Given the description of an element on the screen output the (x, y) to click on. 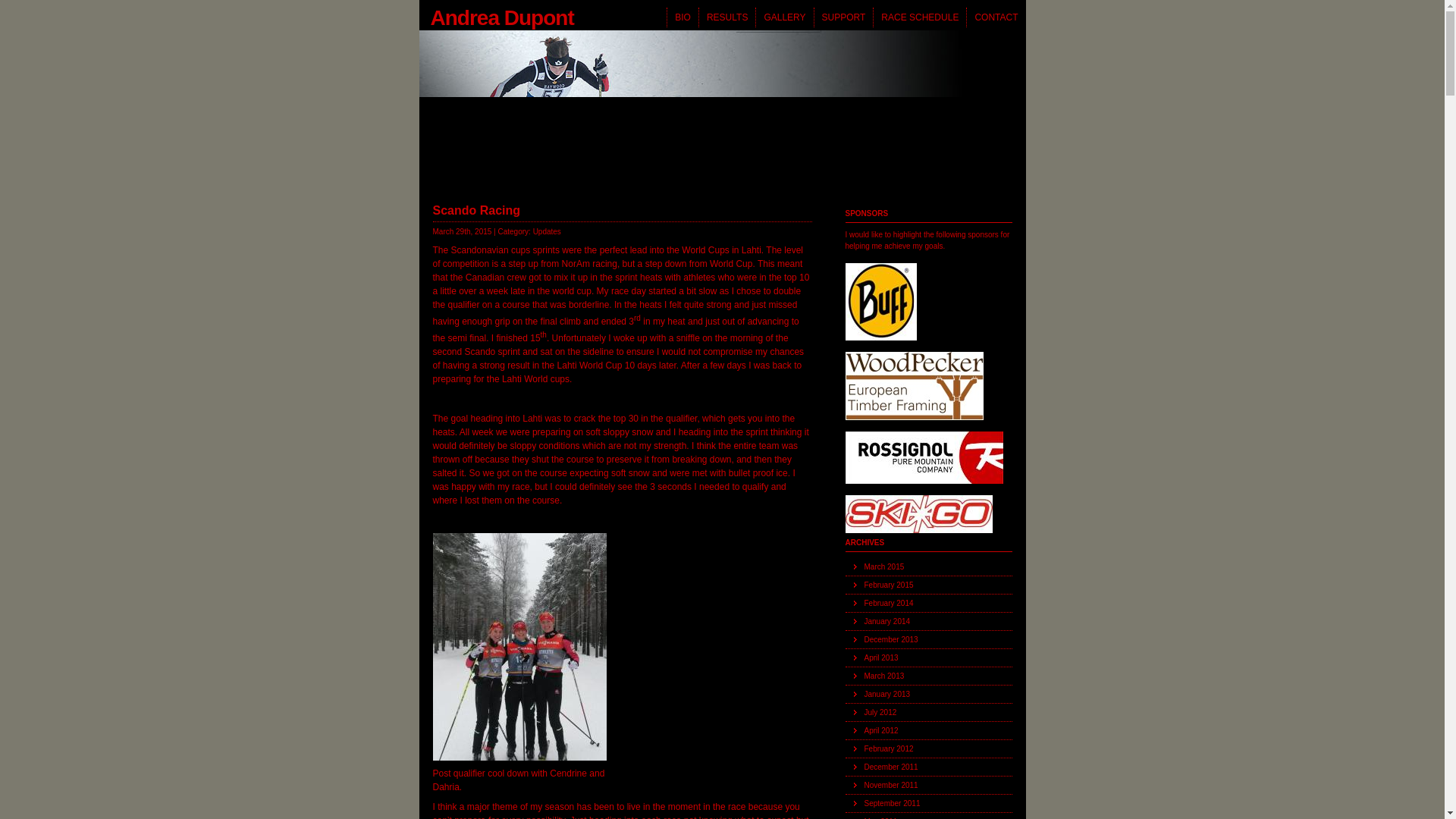
February 2014 Element type: text (927, 603)
GALLERY Element type: text (783, 17)
September 2011 Element type: text (927, 803)
November 2011 Element type: text (927, 785)
SUPPORT Element type: text (843, 17)
Andrea Dupont Element type: text (495, 15)
January 2013 Element type: text (927, 694)
July 2012 Element type: text (927, 712)
February 2015 Element type: text (927, 585)
Updates Element type: text (547, 231)
January 2014 Element type: text (927, 621)
BIO Element type: text (682, 17)
February 2012 Element type: text (927, 749)
Scando Racing Element type: text (476, 209)
April 2013 Element type: text (927, 658)
RESULTS Element type: text (726, 17)
RACE SCHEDULE Element type: text (919, 17)
CONTACT Element type: text (995, 17)
March 2015 Element type: text (927, 567)
March 2013 Element type: text (927, 676)
April 2012 Element type: text (927, 730)
December 2011 Element type: text (927, 767)
December 2013 Element type: text (927, 639)
